Given the description of an element on the screen output the (x, y) to click on. 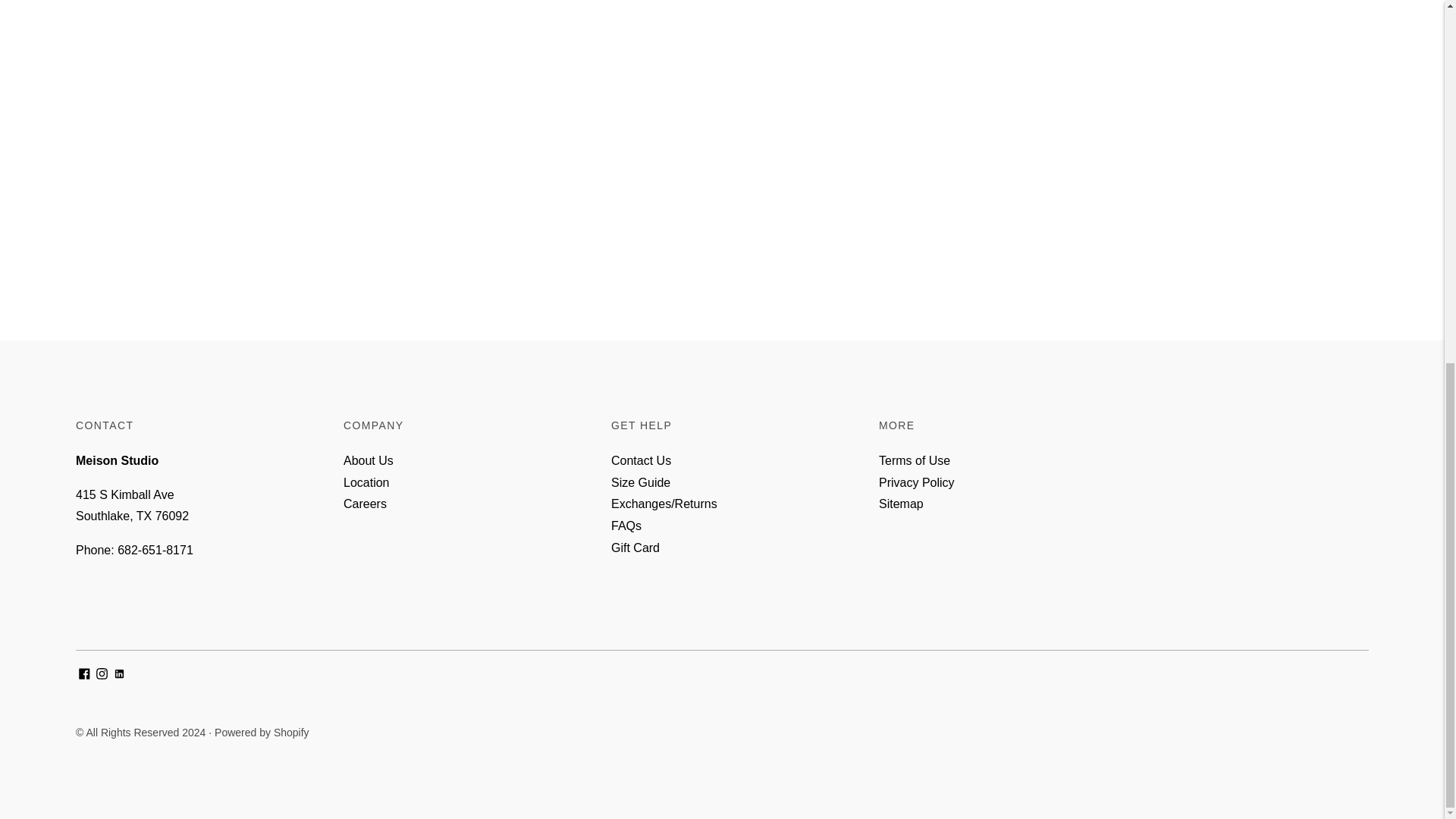
meison on LinkedIn, (119, 675)
meison on Instagram (101, 675)
meison on Facebook (84, 675)
